Given the description of an element on the screen output the (x, y) to click on. 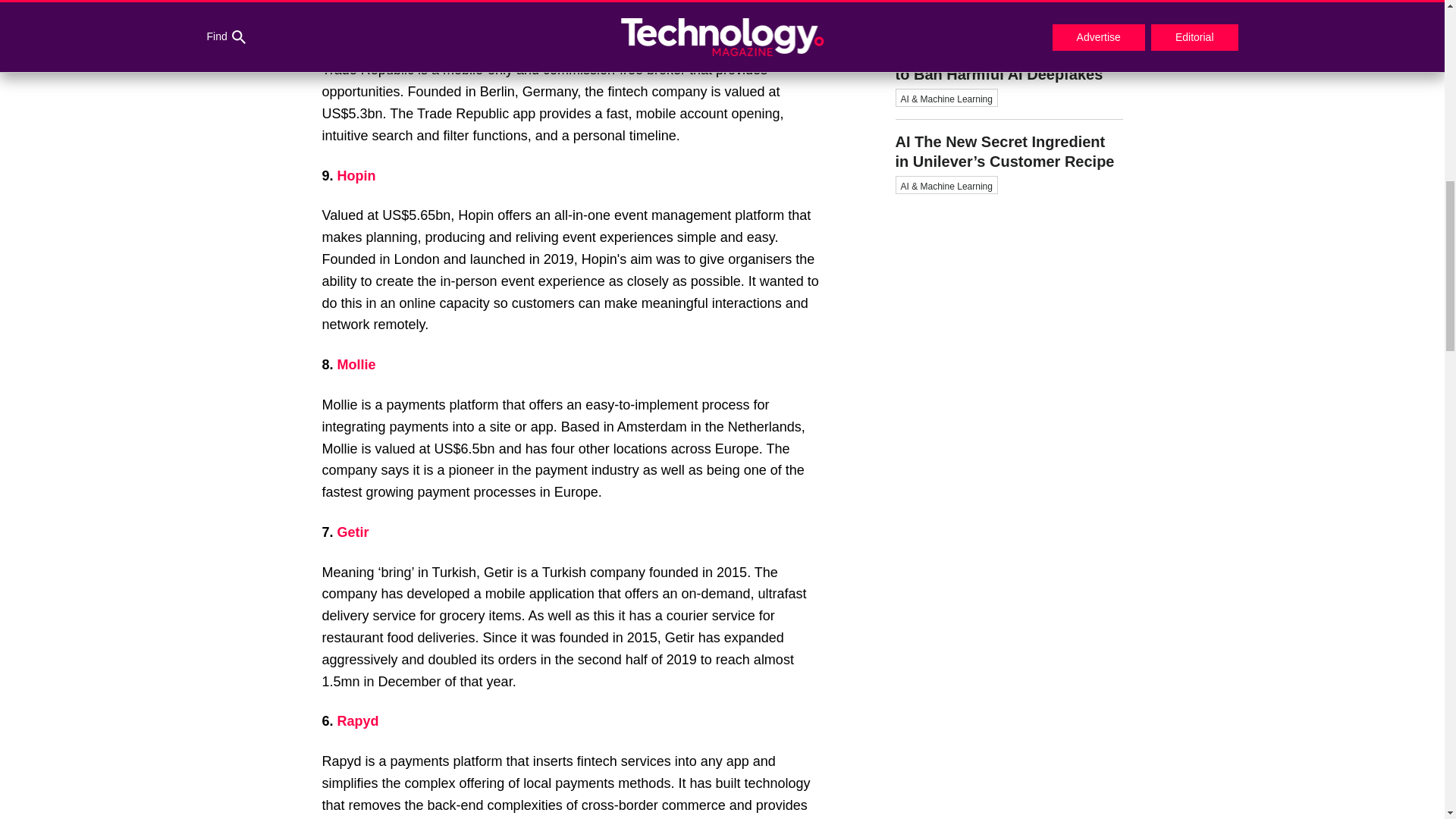
Mollie (356, 364)
Rapyd (357, 720)
Hopin (356, 175)
Getir (353, 531)
Trade Republic (393, 29)
